Given the description of an element on the screen output the (x, y) to click on. 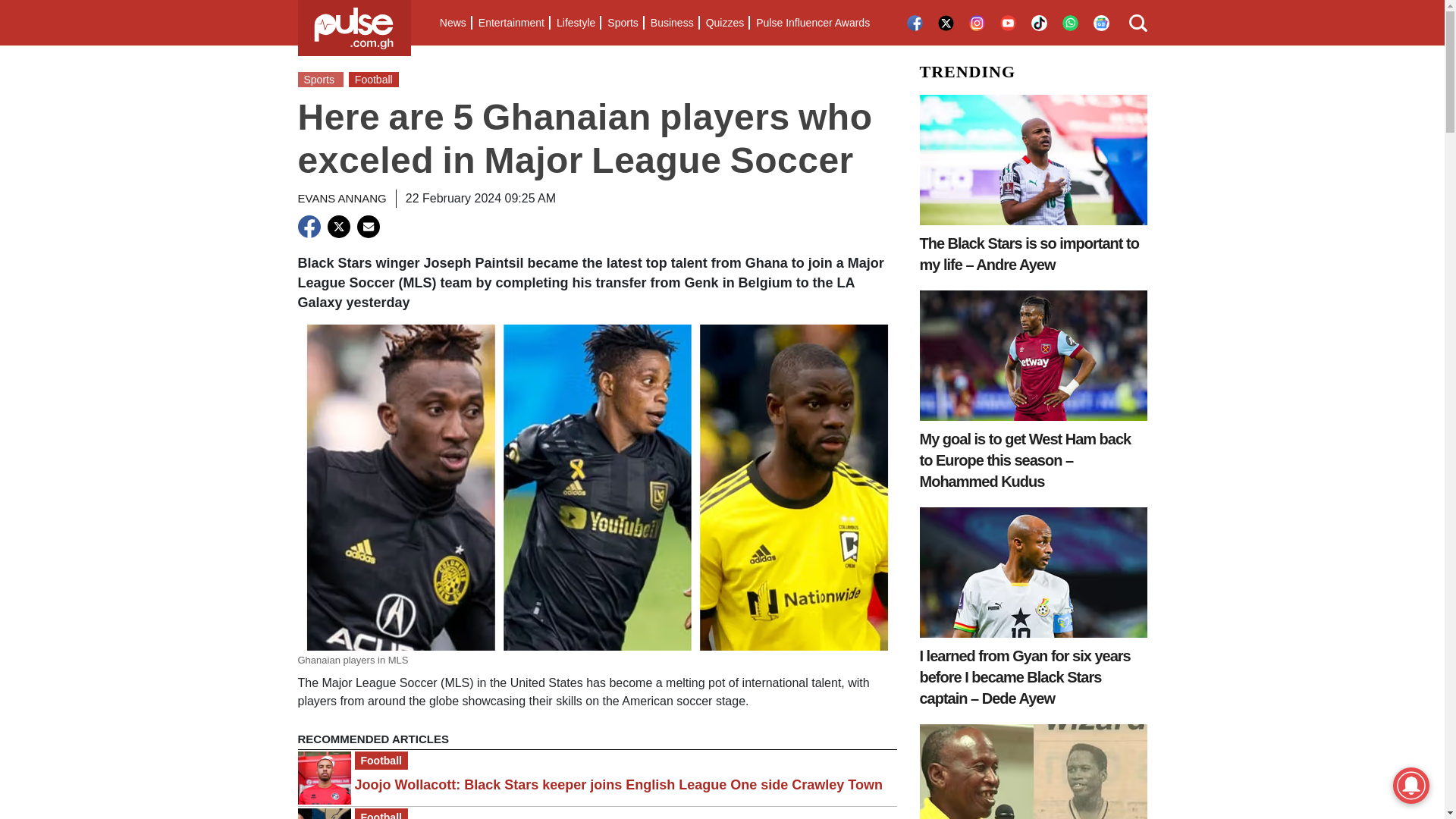
Lifestyle (575, 22)
Business (672, 22)
Sports (622, 22)
Entertainment (510, 22)
